Given the description of an element on the screen output the (x, y) to click on. 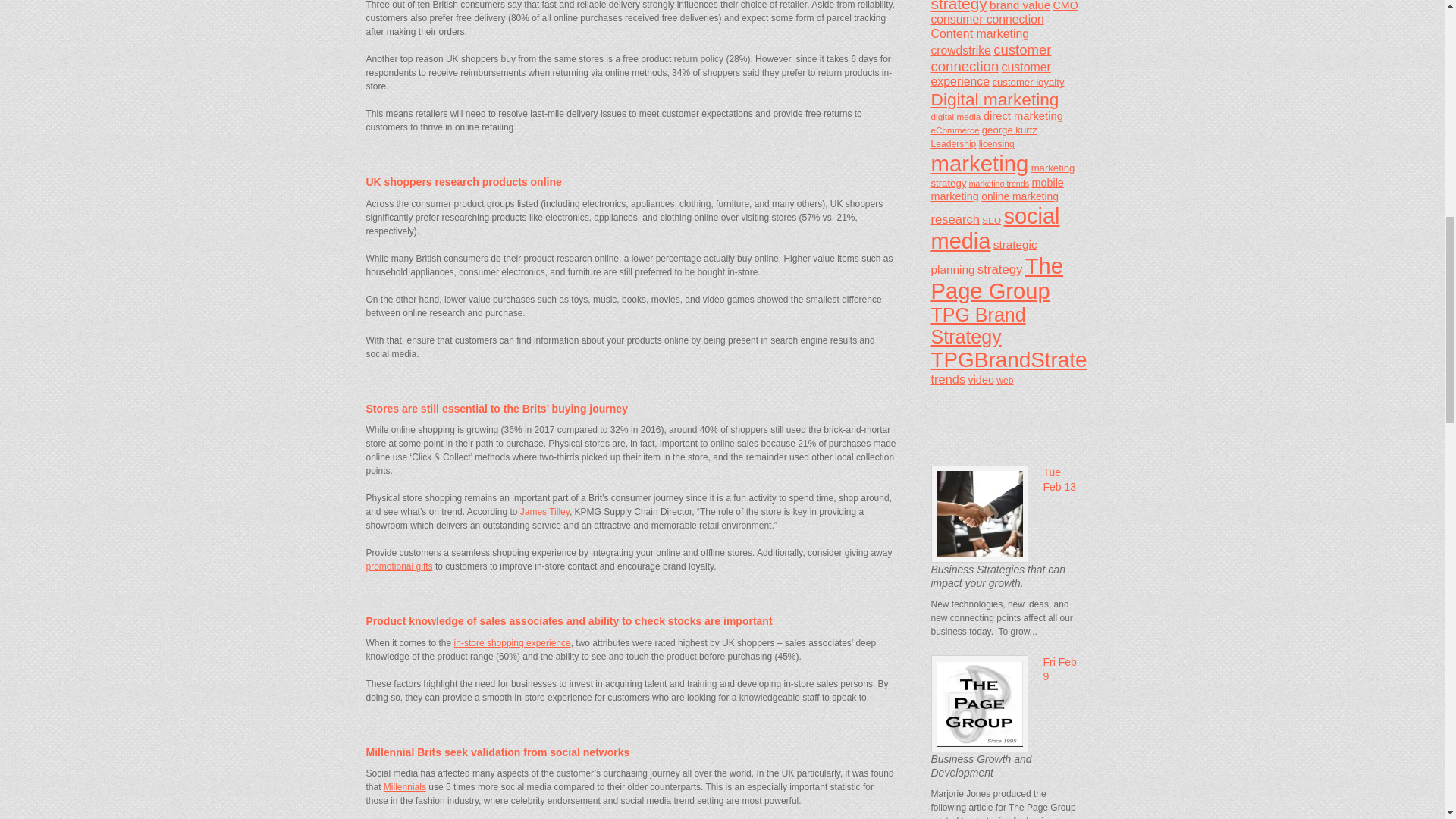
James Tilley (544, 511)
in-store shopping experience (512, 643)
promotional gifts (398, 566)
Millennials (405, 787)
